Given the description of an element on the screen output the (x, y) to click on. 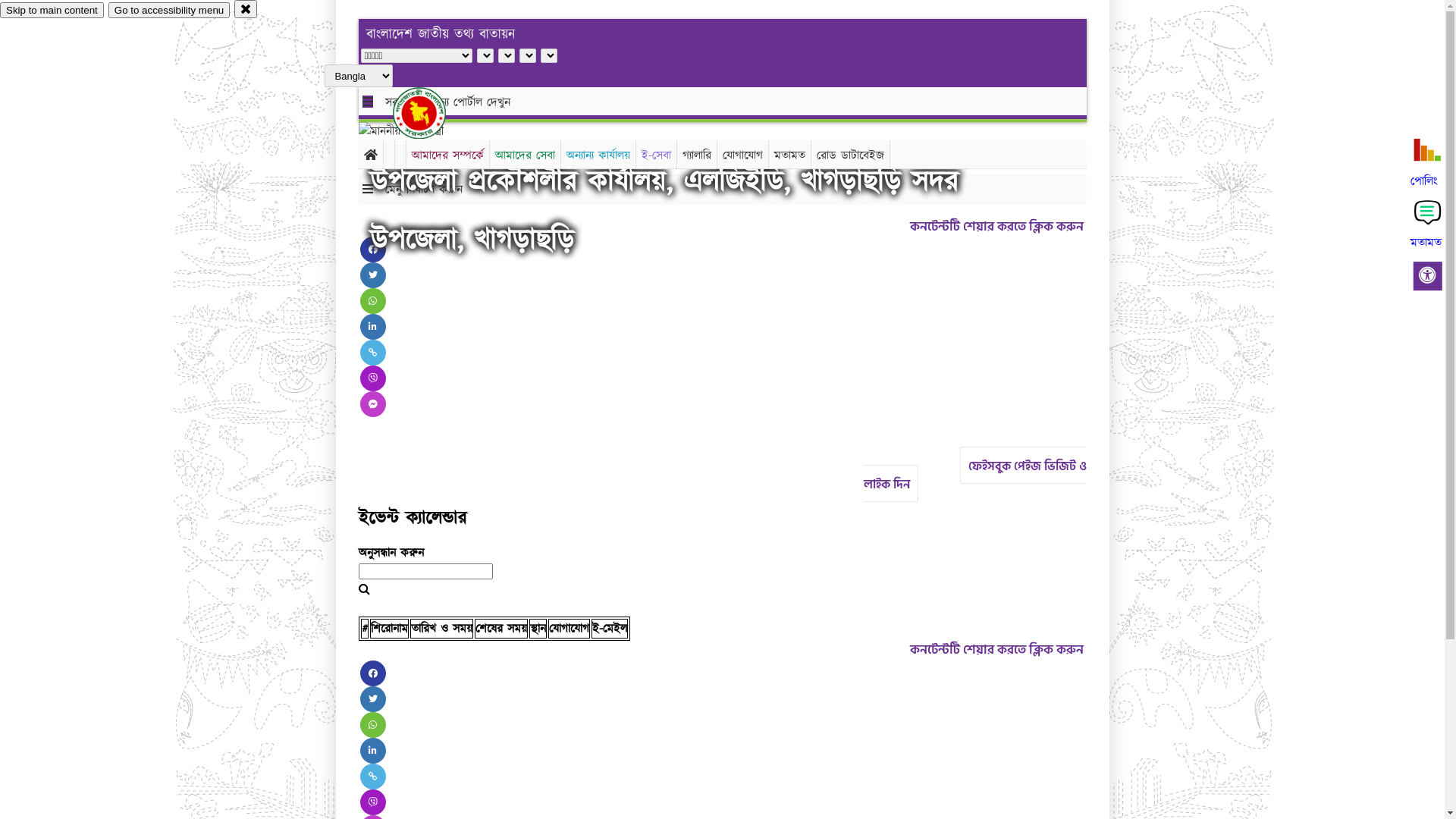
Go to accessibility menu Element type: text (168, 10)
close Element type: hover (245, 9)
Skip to main content Element type: text (51, 10)

                
             Element type: hover (431, 112)
